Given the description of an element on the screen output the (x, y) to click on. 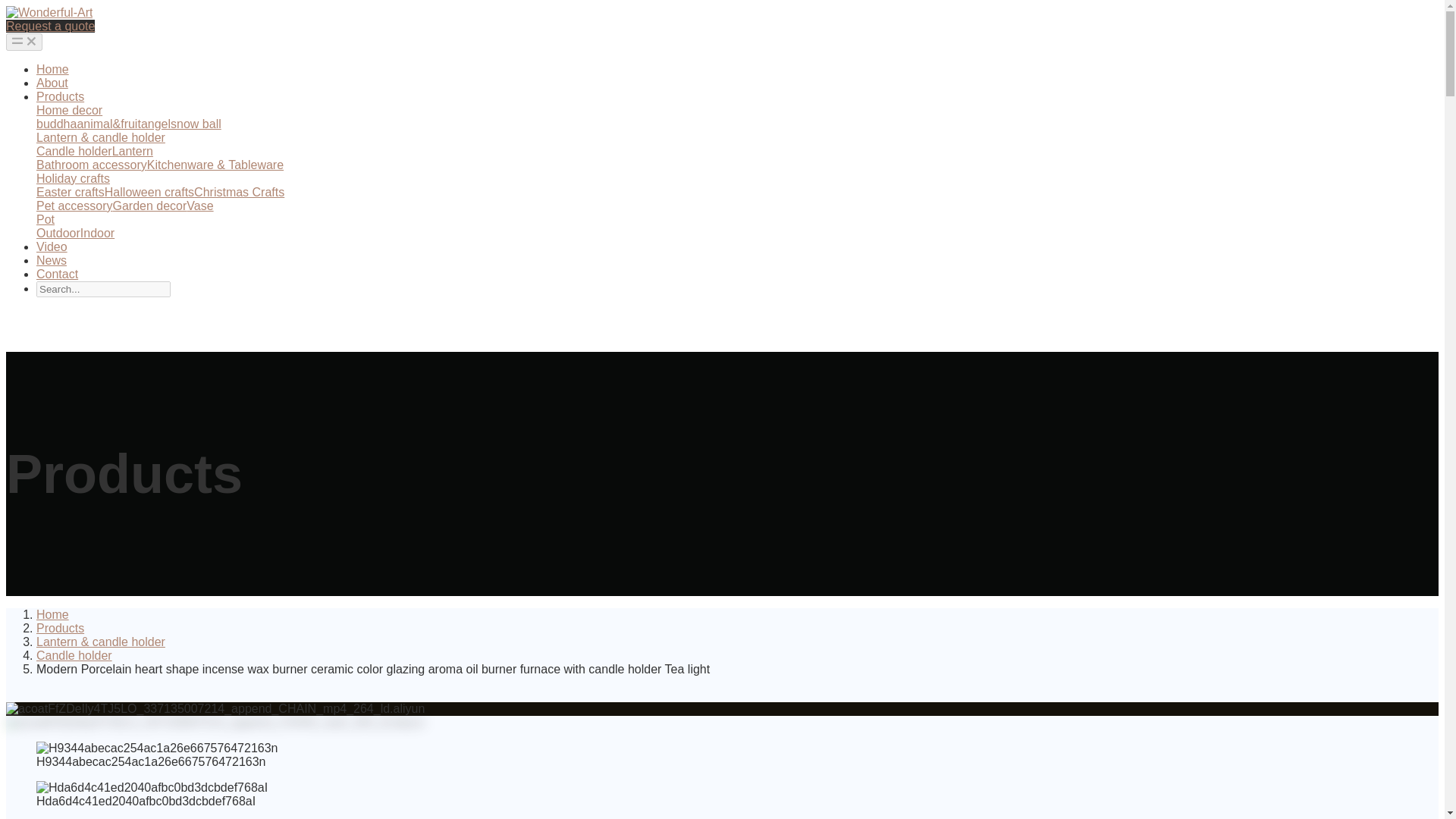
Easter crafts (70, 192)
Home decor (68, 110)
Home decor (68, 110)
Products (60, 627)
Home (52, 614)
Bathroom accessory (91, 164)
Pot (45, 219)
angel (155, 123)
Christmas Crafts (238, 192)
About (52, 82)
